Given the description of an element on the screen output the (x, y) to click on. 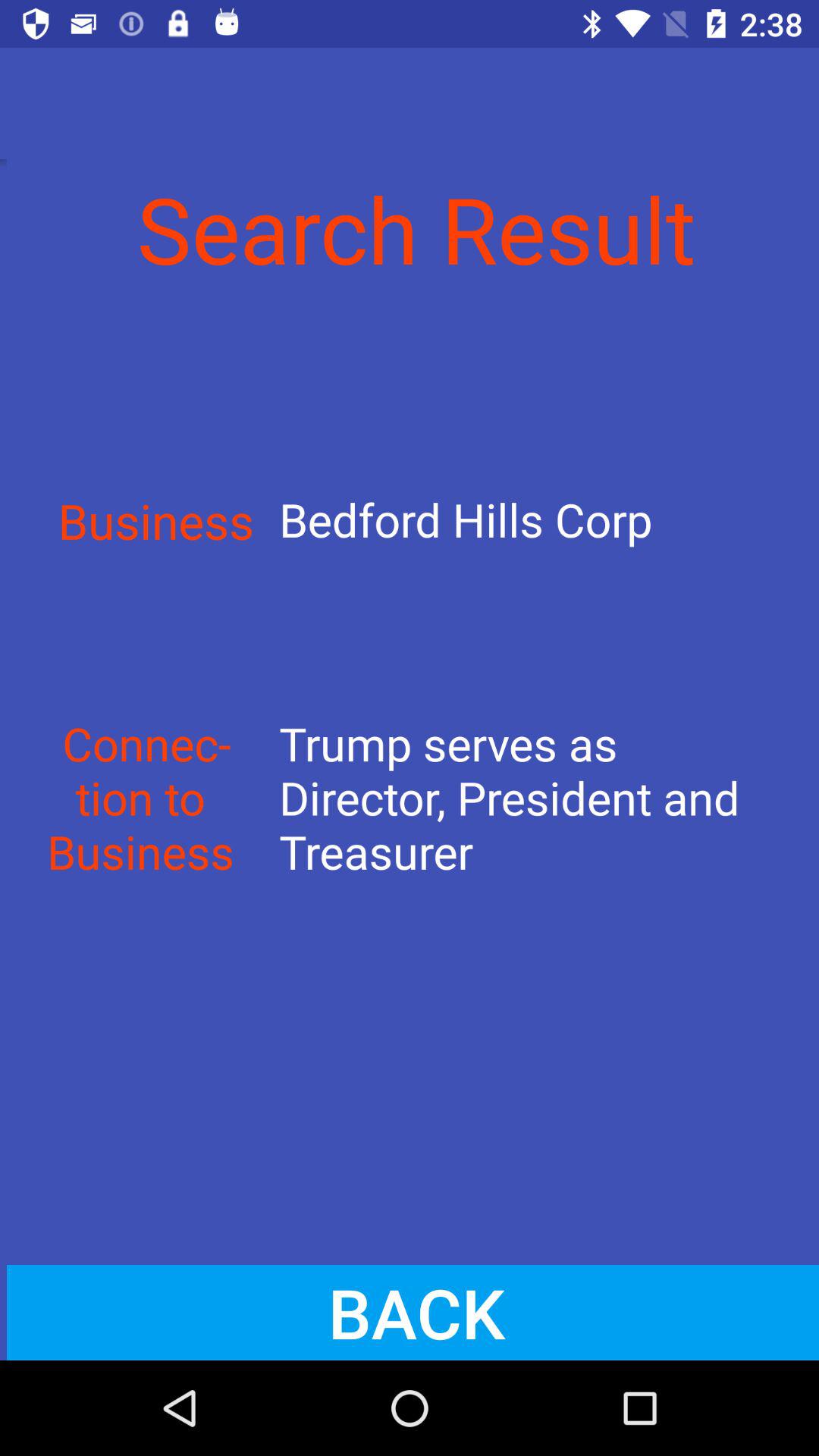
turn on app below connection to business item (409, 1312)
